Given the description of an element on the screen output the (x, y) to click on. 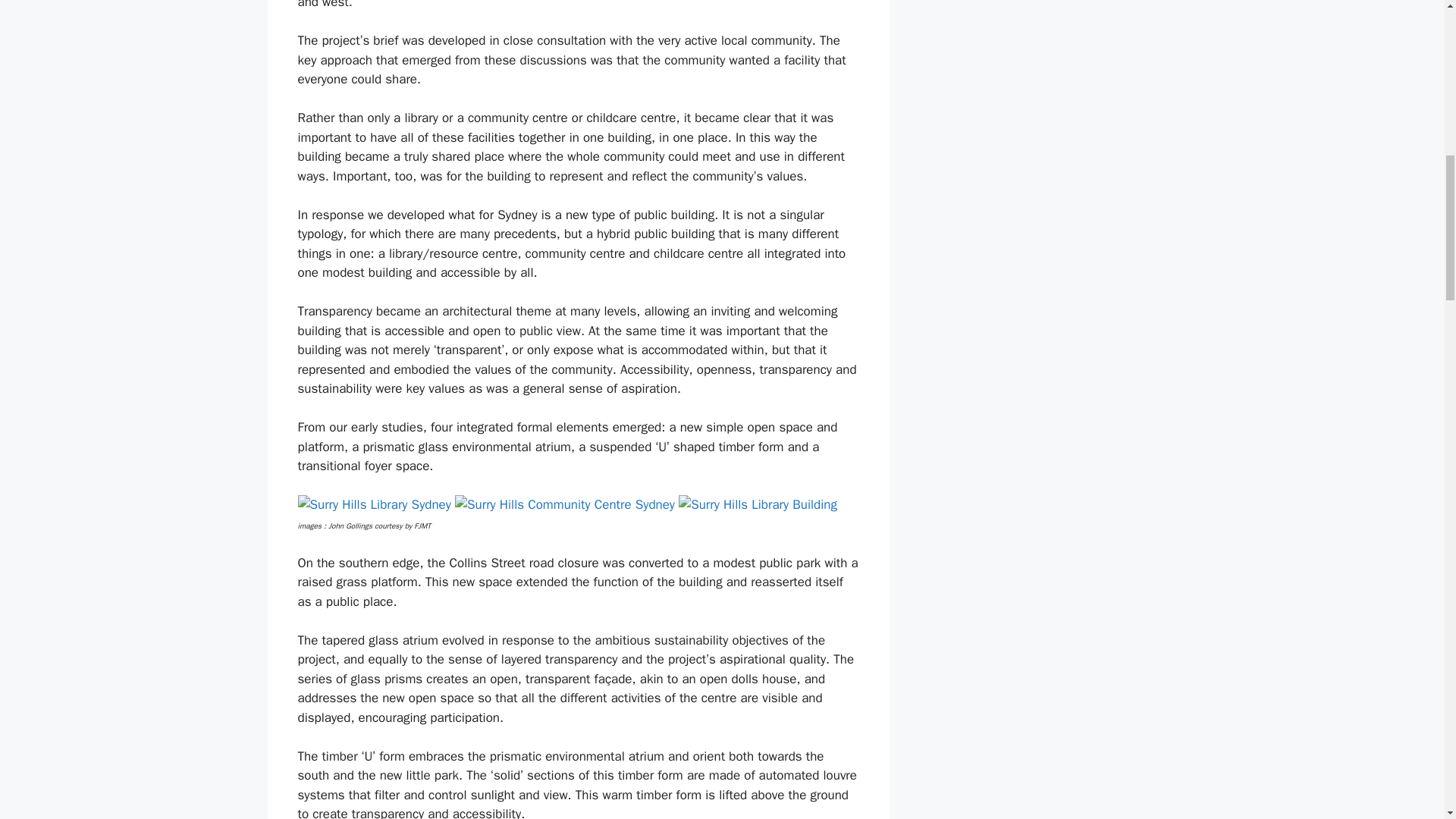
Scroll back to top (1406, 720)
